Given the description of an element on the screen output the (x, y) to click on. 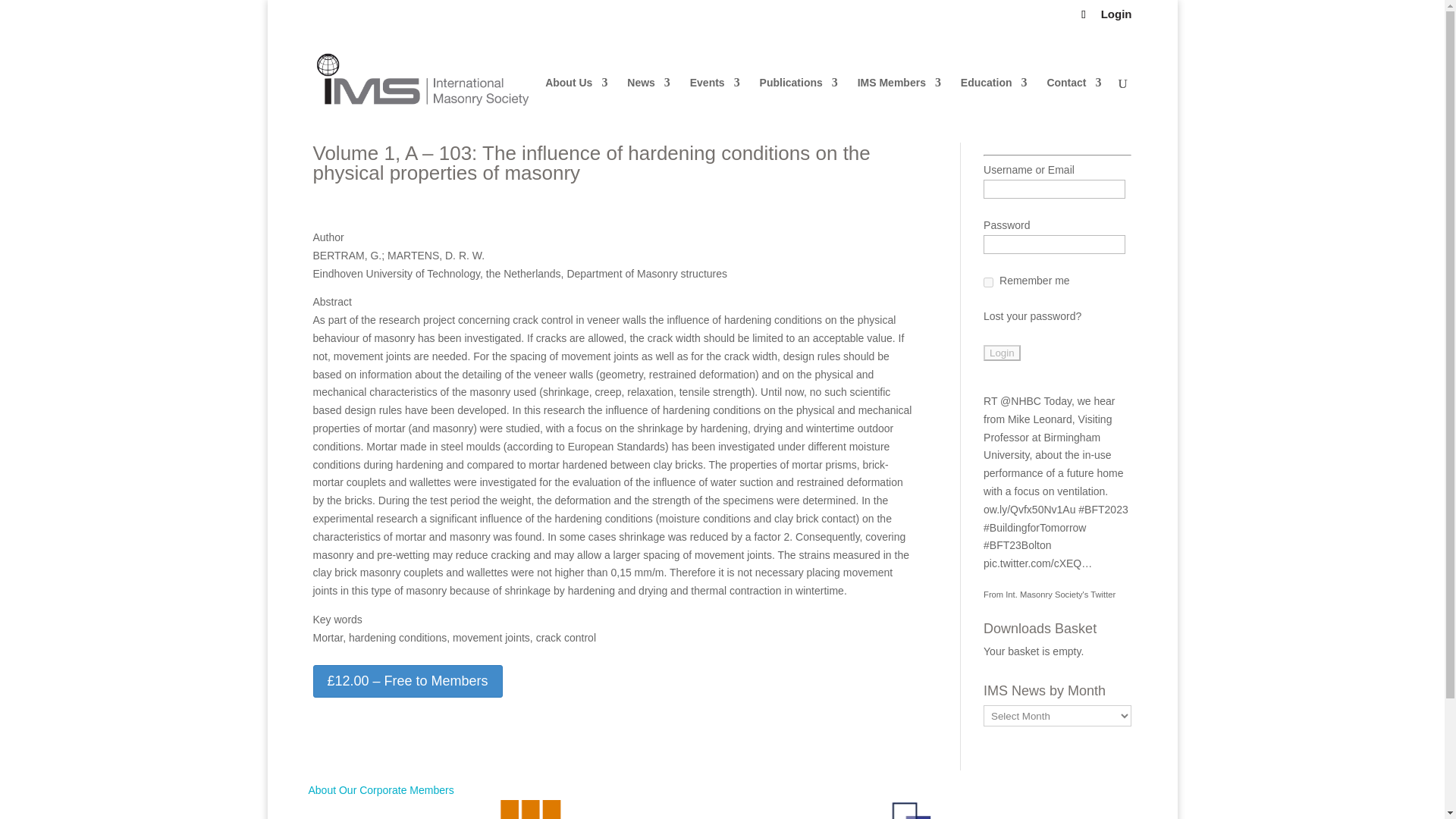
NHBC (1020, 400)
Login (1116, 17)
Login (1002, 352)
Login (1002, 352)
1 (988, 282)
Lost your password? (1032, 316)
IMS Members (898, 109)
Int. Masonry Society (1060, 593)
Publications (799, 109)
About Us (575, 109)
Education (993, 109)
